Given the description of an element on the screen output the (x, y) to click on. 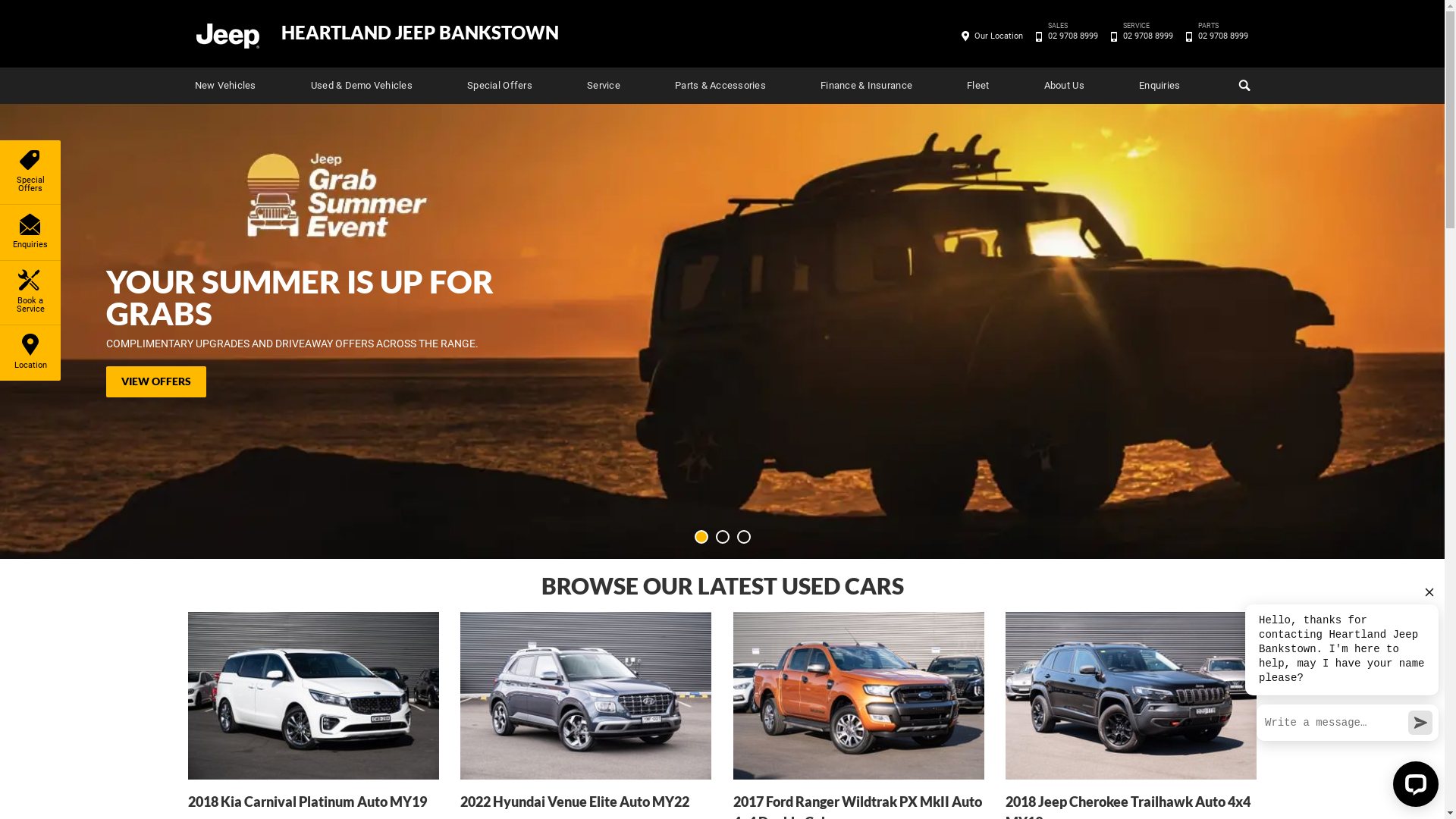
Special Offers Element type: text (30, 171)
VIEW OFFERS Element type: text (156, 381)
Parts & Accessories Element type: text (719, 85)
2018 Kia Carnival Platinum Auto MY19 Element type: text (313, 711)
SALES
02 9708 8999 Element type: text (1071, 35)
About Us Element type: text (1064, 85)
2022 Hyundai Venue Elite Auto MY22 Element type: text (585, 711)
Enquiries Element type: text (30, 232)
SERVICE
02 9708 8999 Element type: text (1147, 35)
Our Location Element type: text (998, 35)
Search Element type: text (1241, 85)
HEARTLAND JEEP BANKSTOWN Element type: text (419, 32)
Special Offers Element type: text (499, 85)
PARTS
02 9708 8999 Element type: text (1222, 35)
Finance & Insurance Element type: text (866, 85)
Service Element type: text (603, 85)
Location Element type: text (30, 352)
Enquiries Element type: text (1159, 85)
New Vehicles Element type: text (224, 85)
Book a Service Element type: text (30, 292)
Heartland Jeep Bankstown Element type: hover (226, 34)
Fleet Element type: text (977, 85)
Used & Demo Vehicles Element type: text (361, 85)
